Given the description of an element on the screen output the (x, y) to click on. 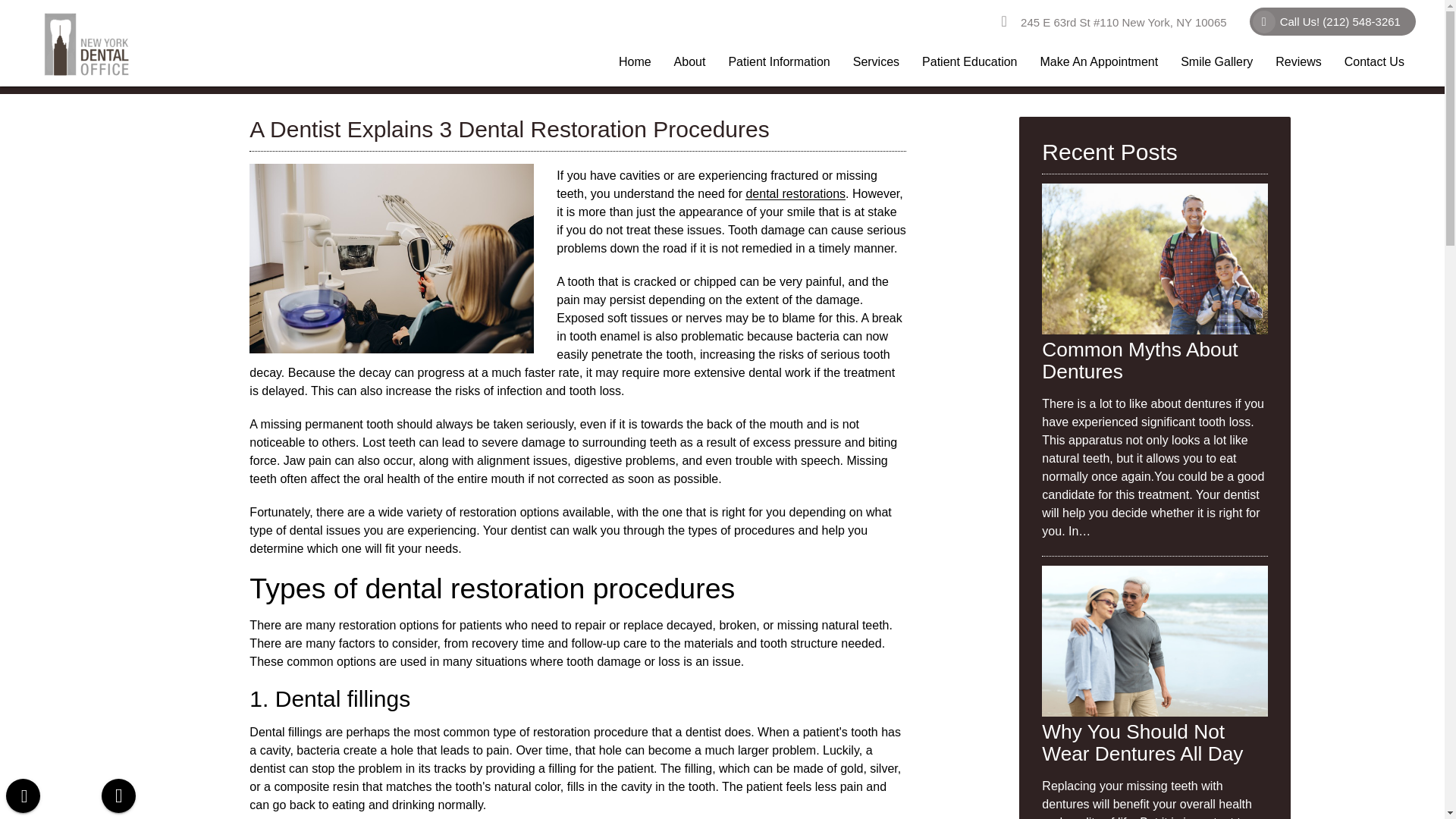
Patient Education (969, 61)
Services (876, 61)
Patient Information (778, 61)
Directions to New York Dental Office (1113, 22)
Visit our Patient Information page (778, 61)
Visit our About Our Practice page (689, 61)
Services Navigation (876, 61)
Home (634, 61)
Visit our Home page (634, 61)
About (689, 61)
